Given the description of an element on the screen output the (x, y) to click on. 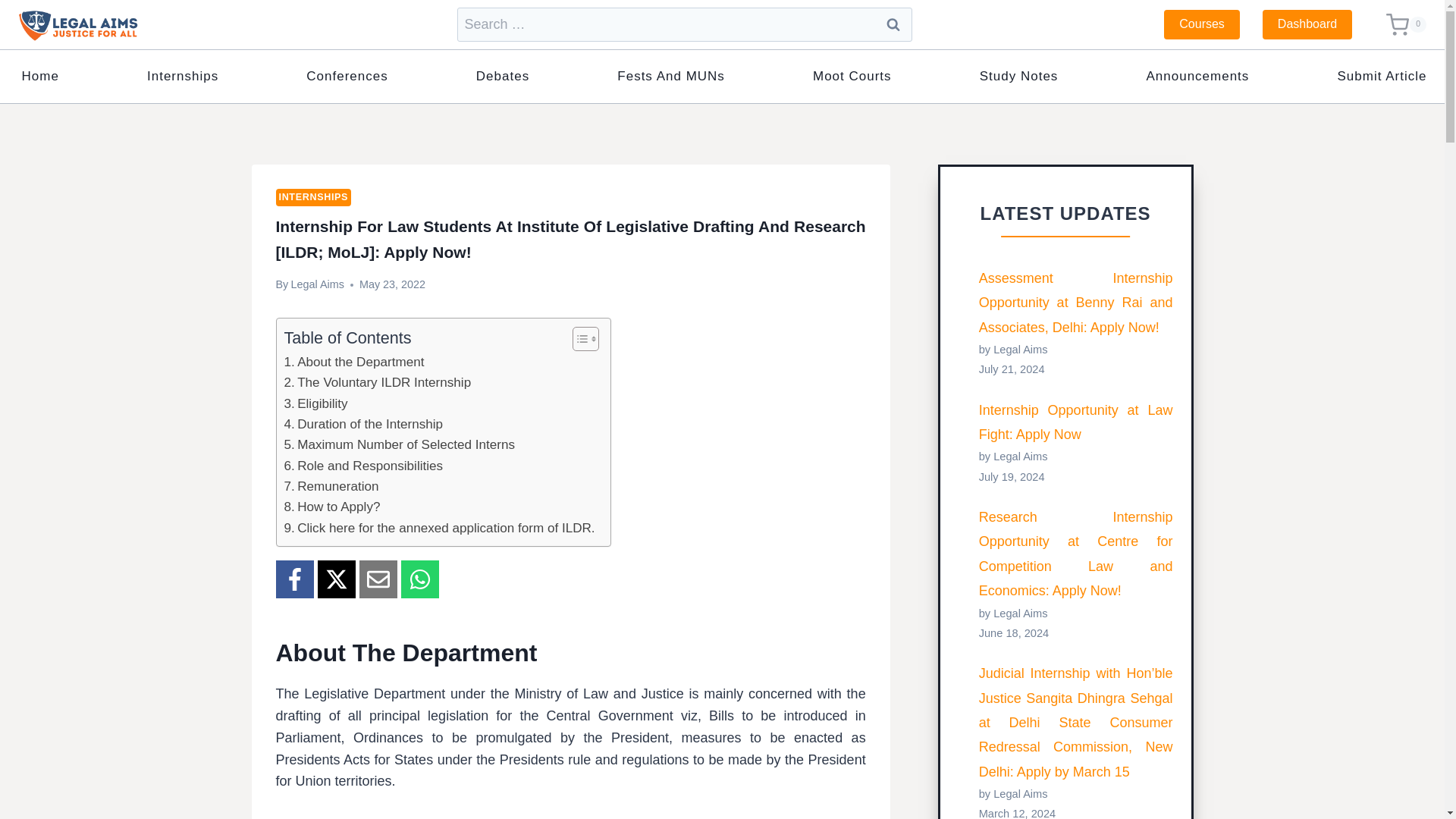
Announcements (1197, 76)
Search (892, 24)
Conferences (346, 76)
Study Notes (1018, 76)
Legal Aims (316, 284)
Click here for the annexed application form of ILDR. (438, 527)
Internships (183, 76)
Role and Responsibilities (362, 465)
The Voluntary ILDR Internship (376, 382)
Duration of the Internship (362, 424)
